Given the description of an element on the screen output the (x, y) to click on. 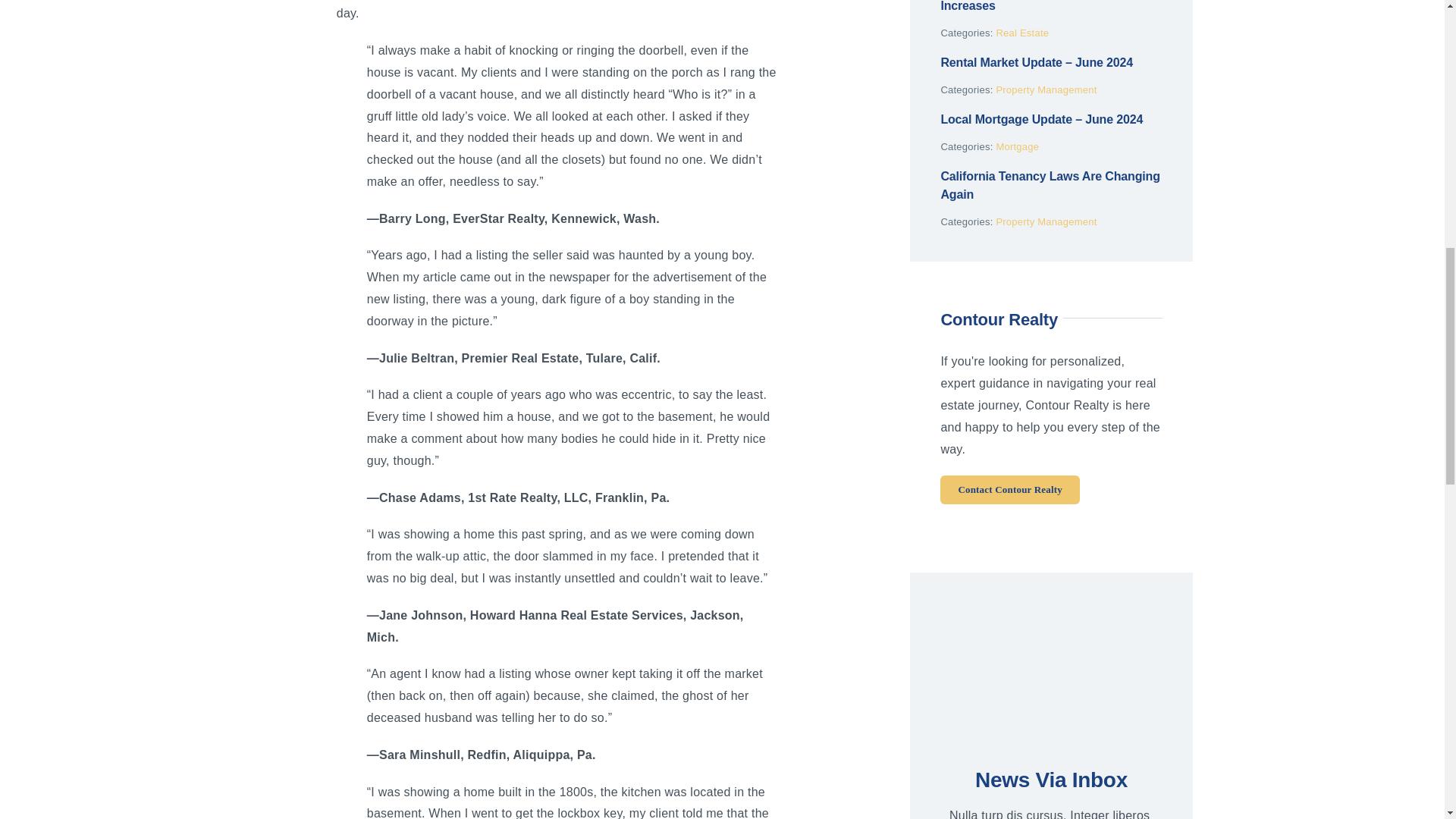
newsletter-icon (1051, 675)
Real Estate (1021, 32)
Property Management (1045, 221)
California Tenancy Laws Are Changing Again (1049, 184)
Mortgage (1017, 146)
Property Management (1045, 89)
Contact Contour Realty (1010, 489)
Four Decades Of US Home Price Increases (1032, 6)
